Given the description of an element on the screen output the (x, y) to click on. 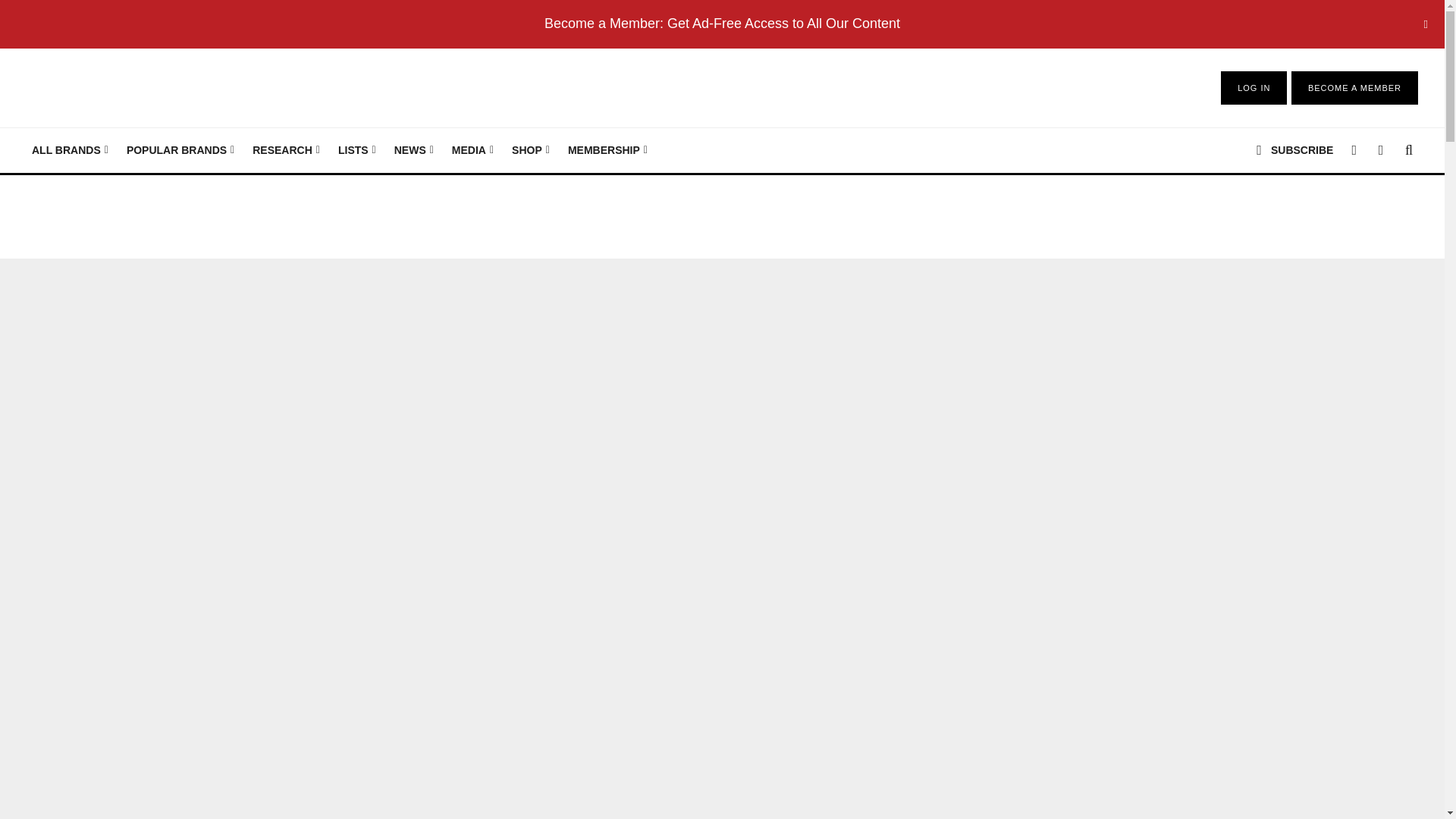
Become a Member: Get Ad-Free Access to All Our Content (721, 23)
LOG IN (1253, 87)
Become a Member: Get Ad-Free Access to All Our Content (721, 23)
ALL BRANDS (70, 149)
BECOME A MEMBER (1353, 87)
